Given the description of an element on the screen output the (x, y) to click on. 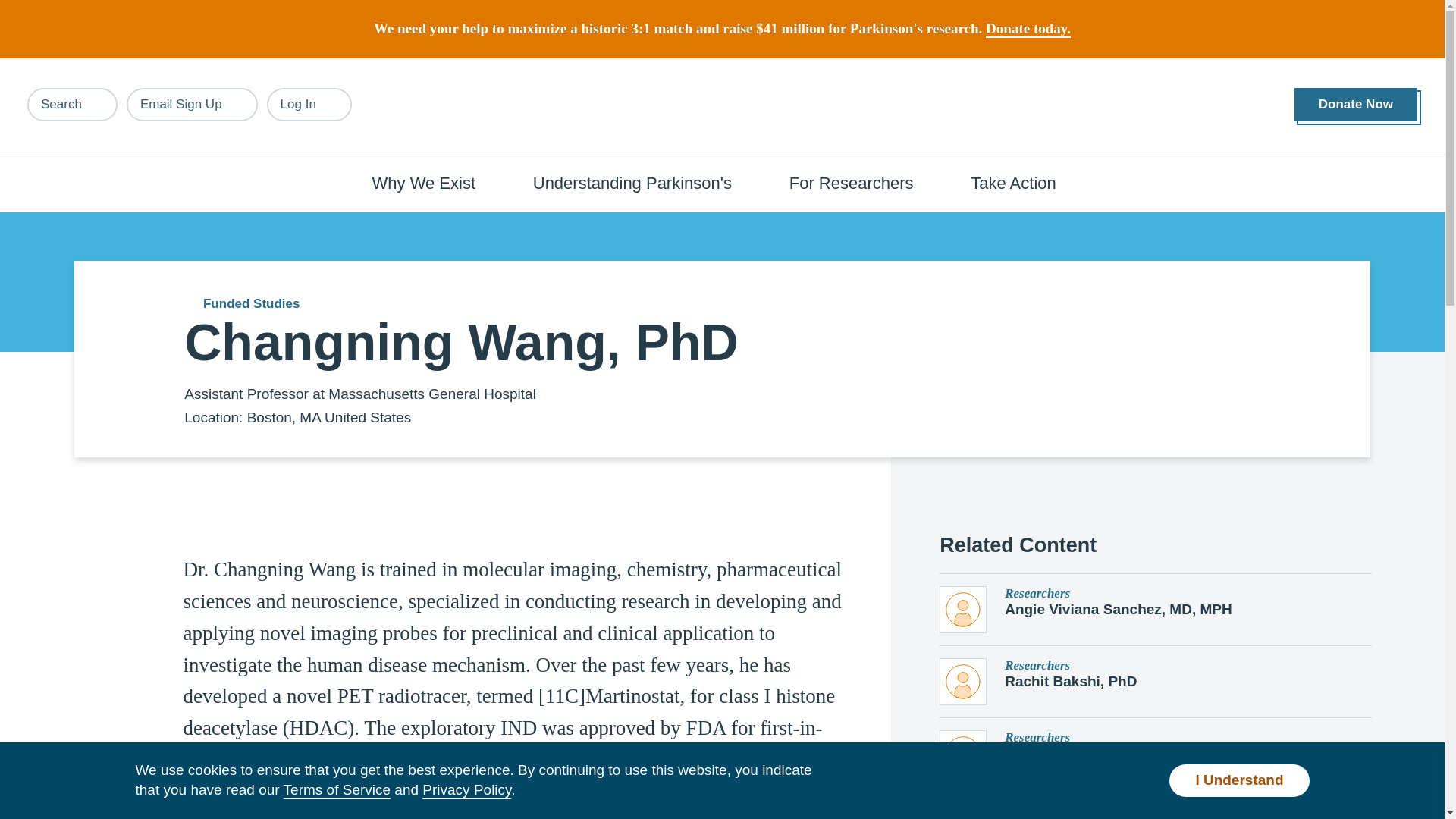
Log In (309, 104)
Email Sign Up (191, 104)
Understanding Parkinson's (640, 182)
Donate Now (1355, 104)
Dismiss (1302, 18)
Home Page (722, 106)
Skip to main content (96, 7)
Search (72, 104)
Why We Exist (432, 182)
